Given the description of an element on the screen output the (x, y) to click on. 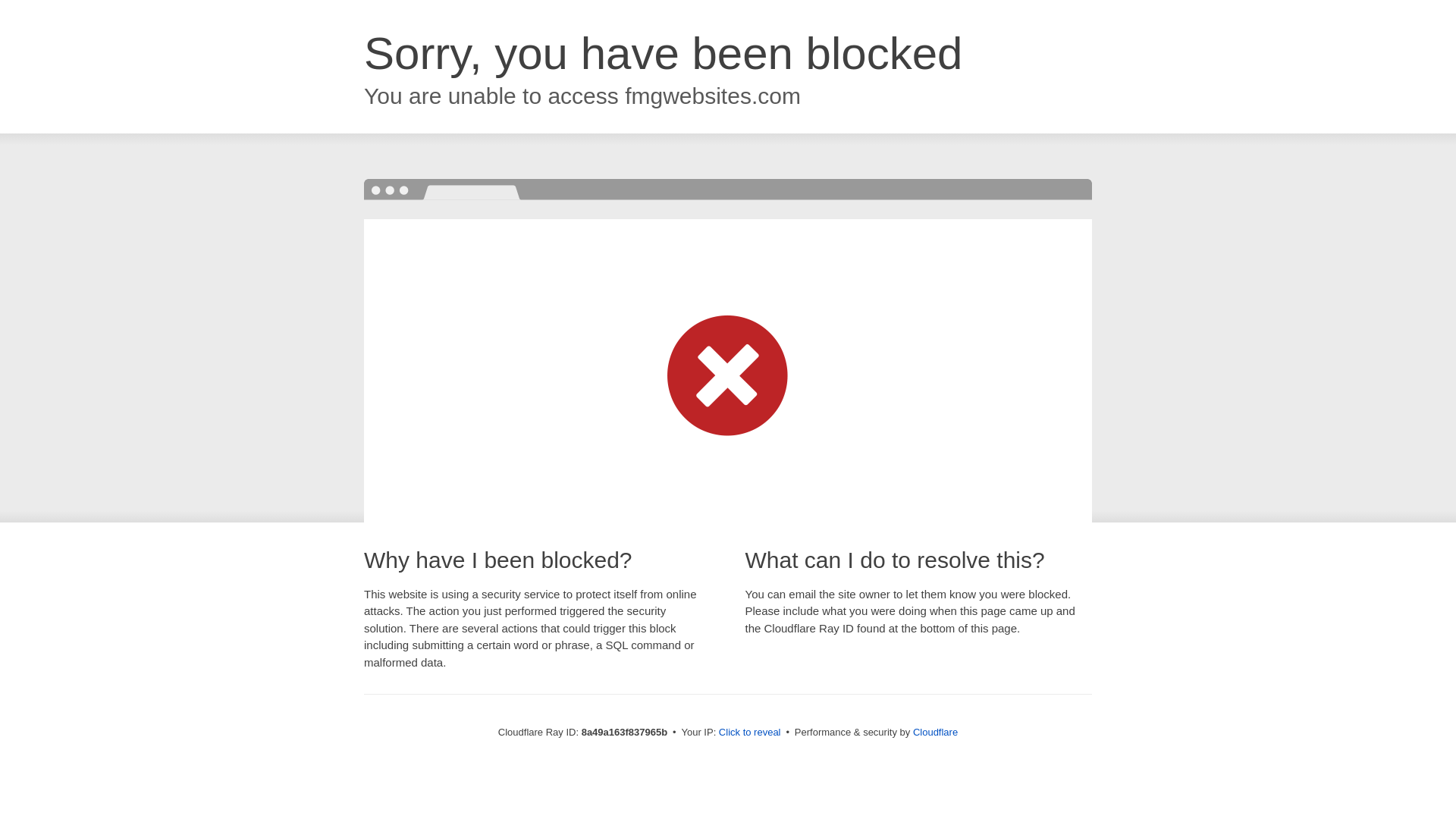
Cloudflare (935, 731)
Click to reveal (749, 732)
